Given the description of an element on the screen output the (x, y) to click on. 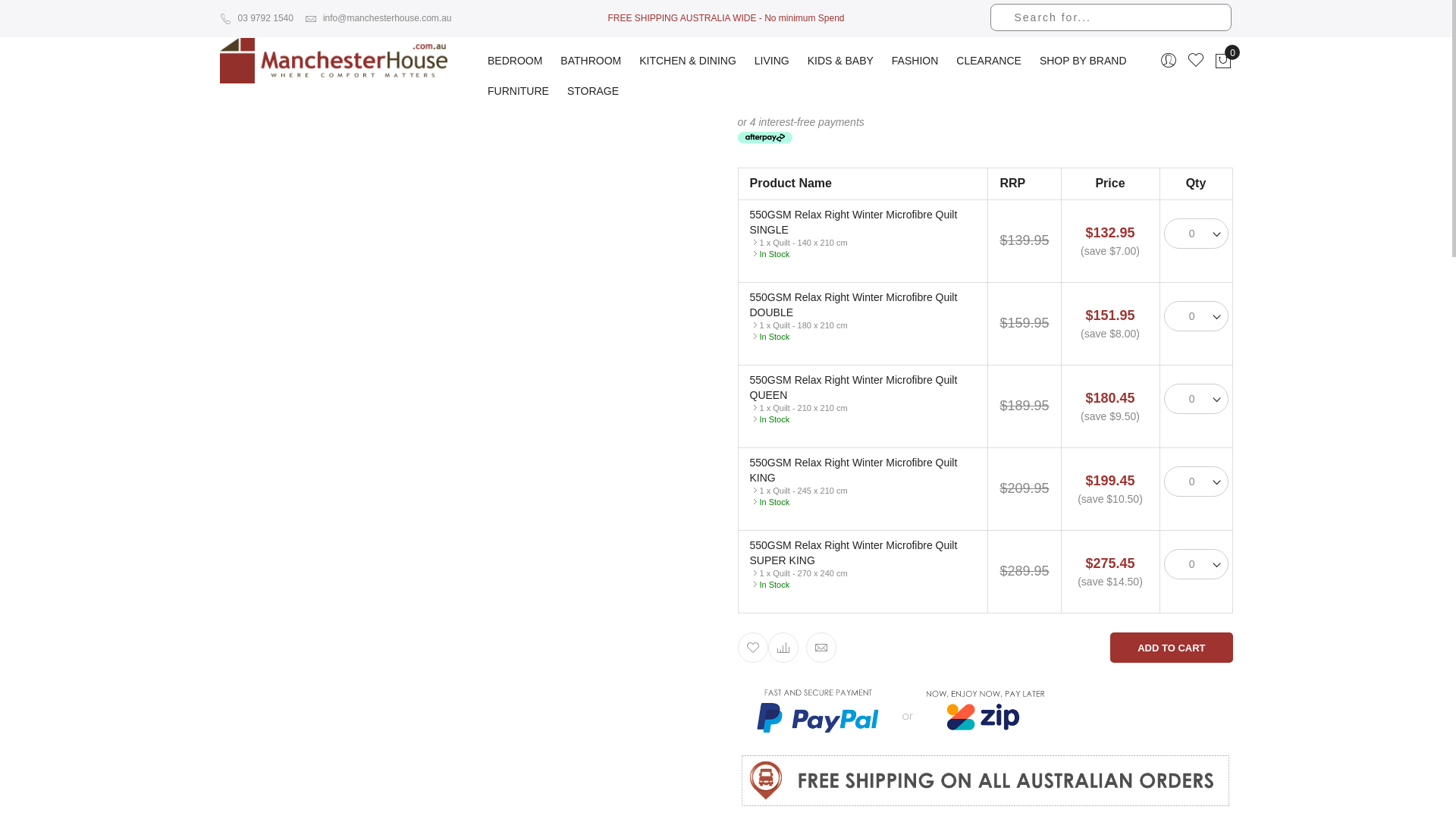
Add to Wish List Element type: hover (752, 647)
BATHROOM Element type: text (590, 55)
BEDROOM Element type: text (289, 21)
BEDROOM Element type: text (514, 55)
Send Email to Friend Element type: hover (820, 647)
Add to Compare Element type: hover (782, 647)
KITCHEN & DINING Element type: text (687, 55)
Home Element type: text (232, 21)
 info@manchesterhouse.com.au Element type: text (377, 17)
SHOP BY BRAND Element type: text (1082, 55)
Manchester House Element type: hover (337, 60)
STORAGE Element type: text (592, 91)
 03 9792 1540 Element type: text (256, 17)
CLEARANCE Element type: text (988, 55)
LIVING Element type: text (771, 55)
KIDS & BABY Element type: text (840, 55)
FURNITURE Element type: text (518, 91)
ADD TO CART Element type: text (1171, 647)
FASHION Element type: text (914, 55)
